Given the description of an element on the screen output the (x, y) to click on. 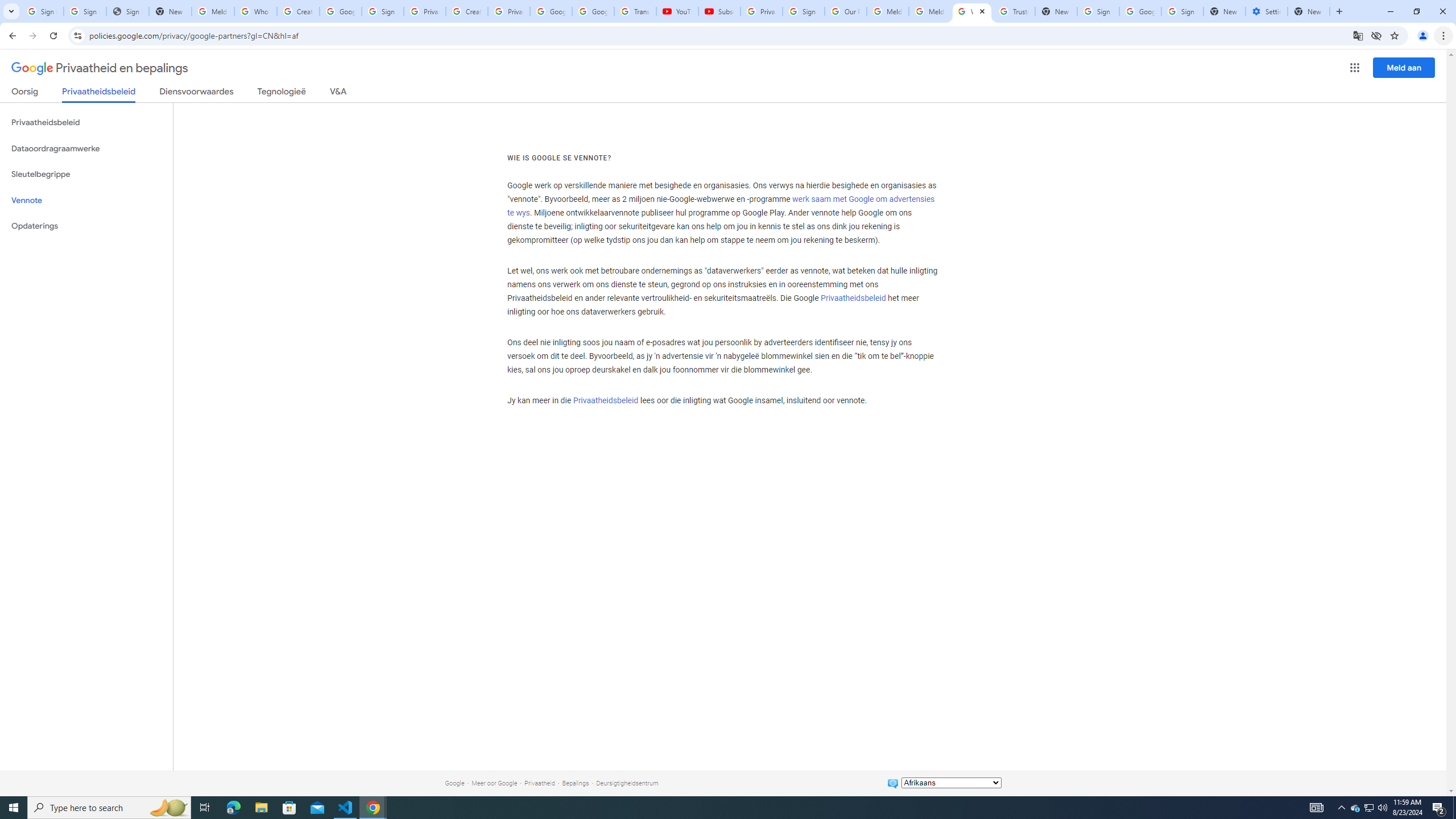
Translate this page (1358, 35)
New Tab (1308, 11)
Meer oor Google (493, 783)
Oorsig (25, 93)
New Tab (1224, 11)
V&A (337, 93)
Bepalings (575, 783)
YouTube (676, 11)
Create your Google Account (467, 11)
Create your Google Account (298, 11)
Sleutelbegrippe (86, 174)
Subscriptions - YouTube (719, 11)
